Given the description of an element on the screen output the (x, y) to click on. 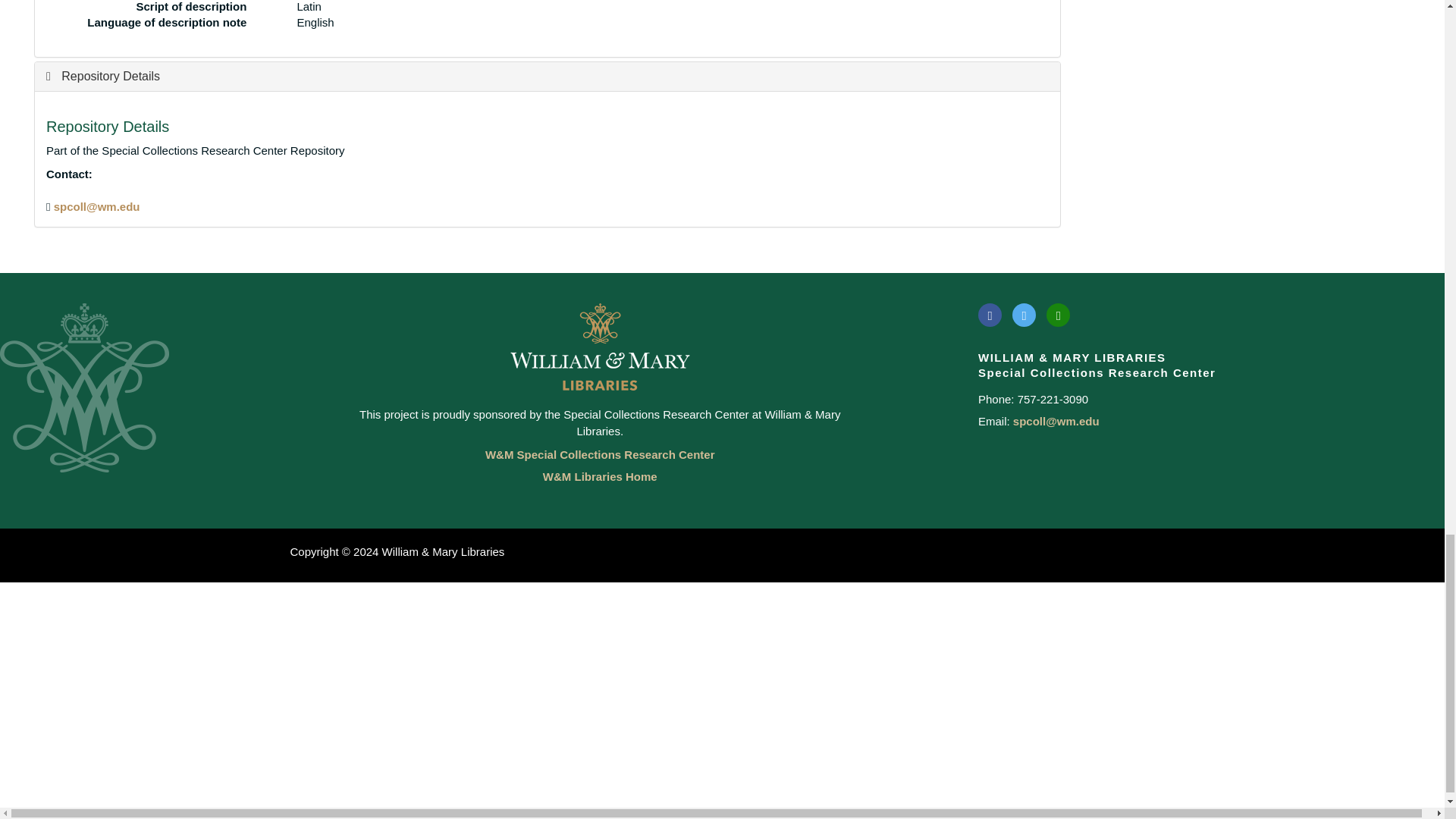
Special Collections Twitter (1023, 314)
Special Collections Blog (1058, 314)
Special Collections Facebook (989, 314)
Repository Details (103, 75)
Send email (96, 205)
